Given the description of an element on the screen output the (x, y) to click on. 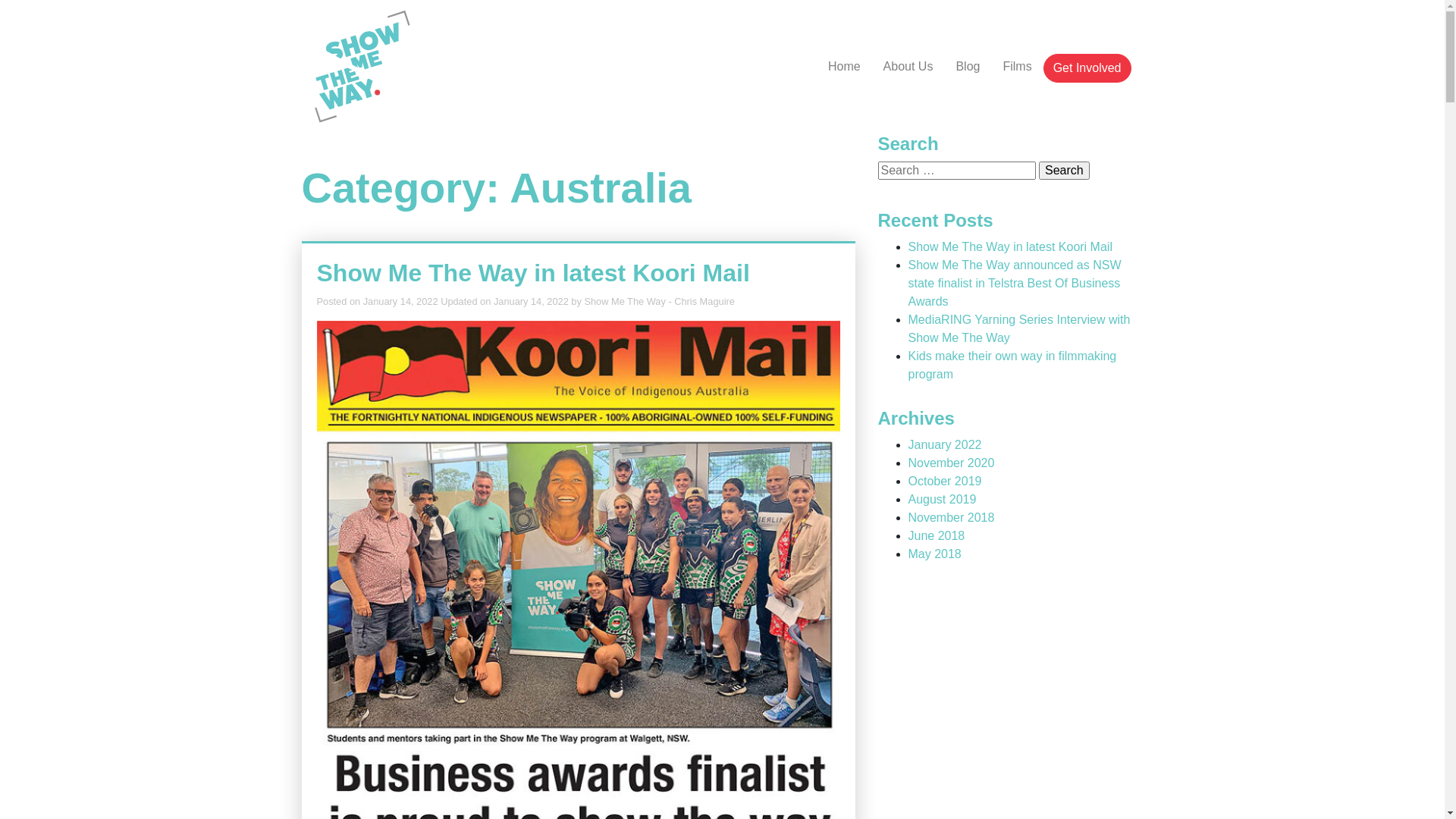
May 2018 Element type: text (934, 553)
Home Element type: text (844, 66)
Show Me The Way - Chris Maguire Element type: text (658, 301)
January 2022 Element type: text (945, 444)
Show Me The Way in latest Koori Mail Element type: text (1010, 246)
August 2019 Element type: text (942, 498)
About Us Element type: text (908, 66)
November 2020 Element type: text (951, 462)
Kids make their own way in filmmaking program Element type: text (1012, 364)
Show Me The Way in latest Koori Mail Element type: text (532, 272)
June 2018 Element type: text (936, 535)
October 2019 Element type: text (945, 480)
Get Involved Element type: text (1087, 68)
November 2018 Element type: text (951, 517)
Blog Element type: text (967, 66)
Films Element type: text (1016, 66)
January 14, 2022 Updated on January 14, 2022 Element type: text (465, 301)
Search Element type: text (1063, 170)
MediaRING Yarning Series Interview with Show Me The Way Element type: text (1019, 328)
